Given the description of an element on the screen output the (x, y) to click on. 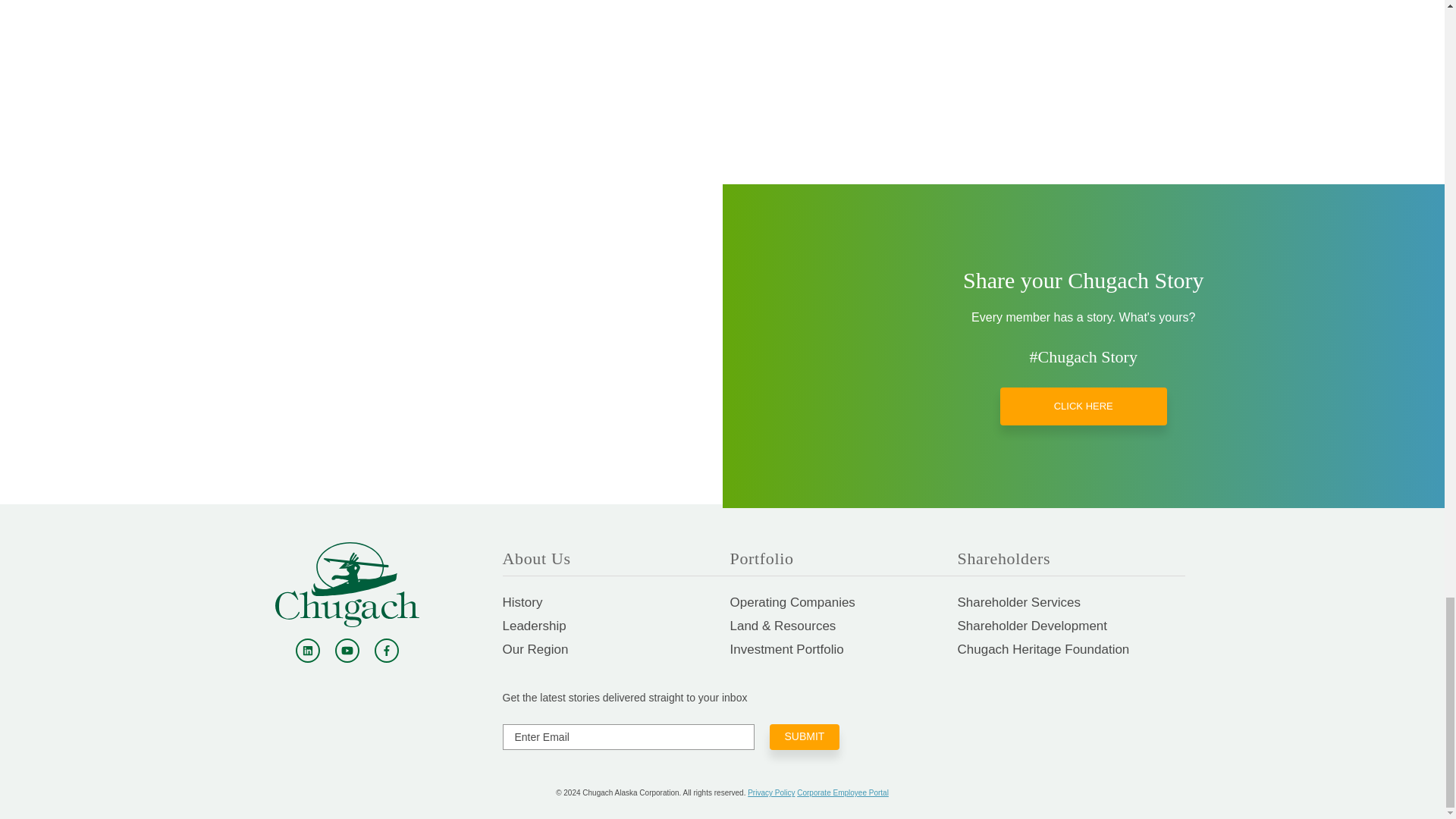
Youtube (346, 650)
Facebook (386, 650)
Linkedin (307, 650)
Chugach Corp (347, 584)
